Given the description of an element on the screen output the (x, y) to click on. 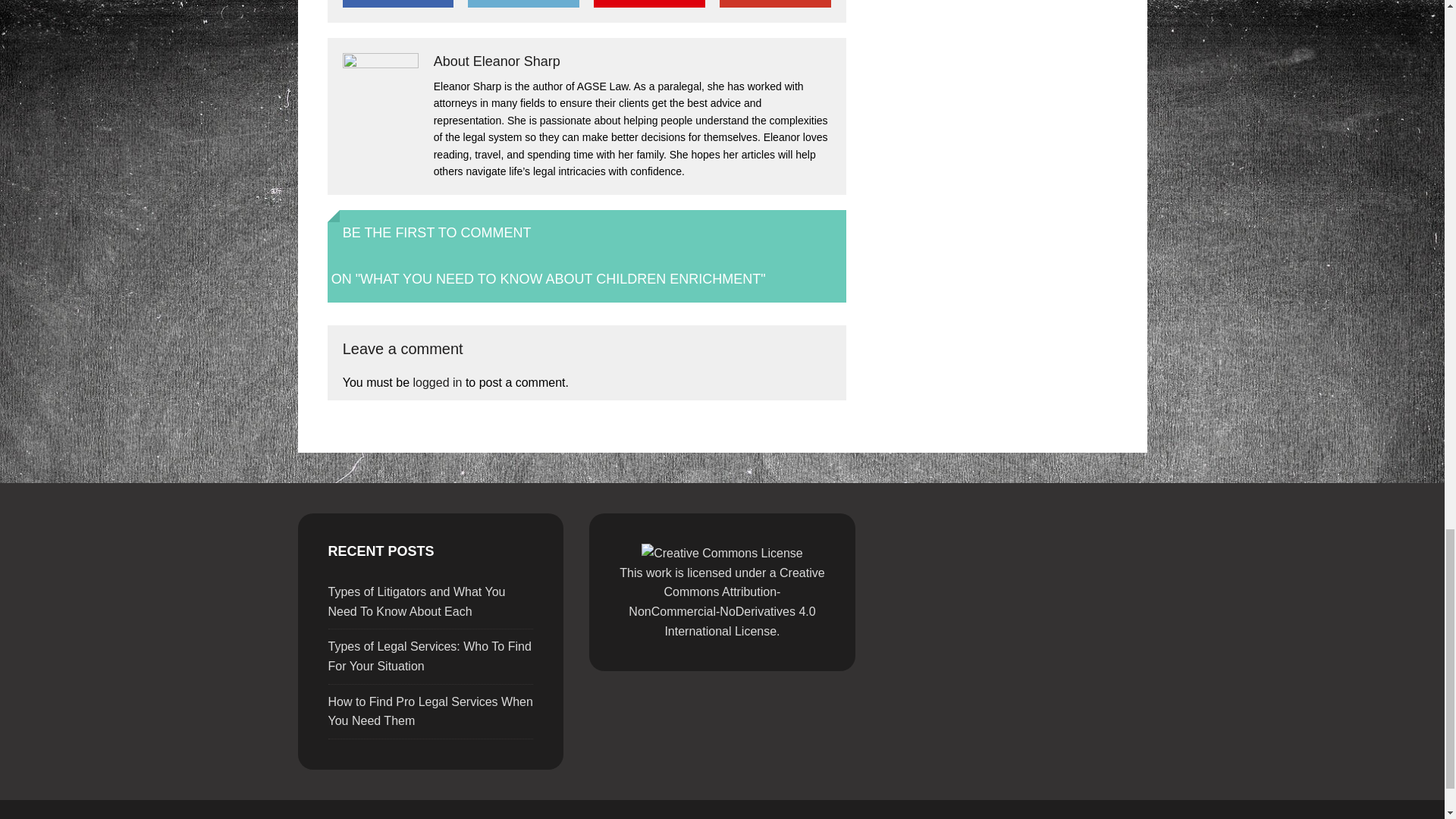
Share on Facebook (397, 3)
How to Find Pro Legal Services When You Need Them (429, 711)
Tweet This Post (522, 3)
TWEET (522, 3)
About Eleanor Sharp (496, 61)
PIN (649, 3)
Pin This Post (649, 3)
SHARE (397, 3)
Types of Legal Services: Who To Find For Your Situation (429, 655)
Types of Litigators and What You Need To Know About Each (416, 601)
SHARE (774, 3)
logged in (436, 382)
